Given the description of an element on the screen output the (x, y) to click on. 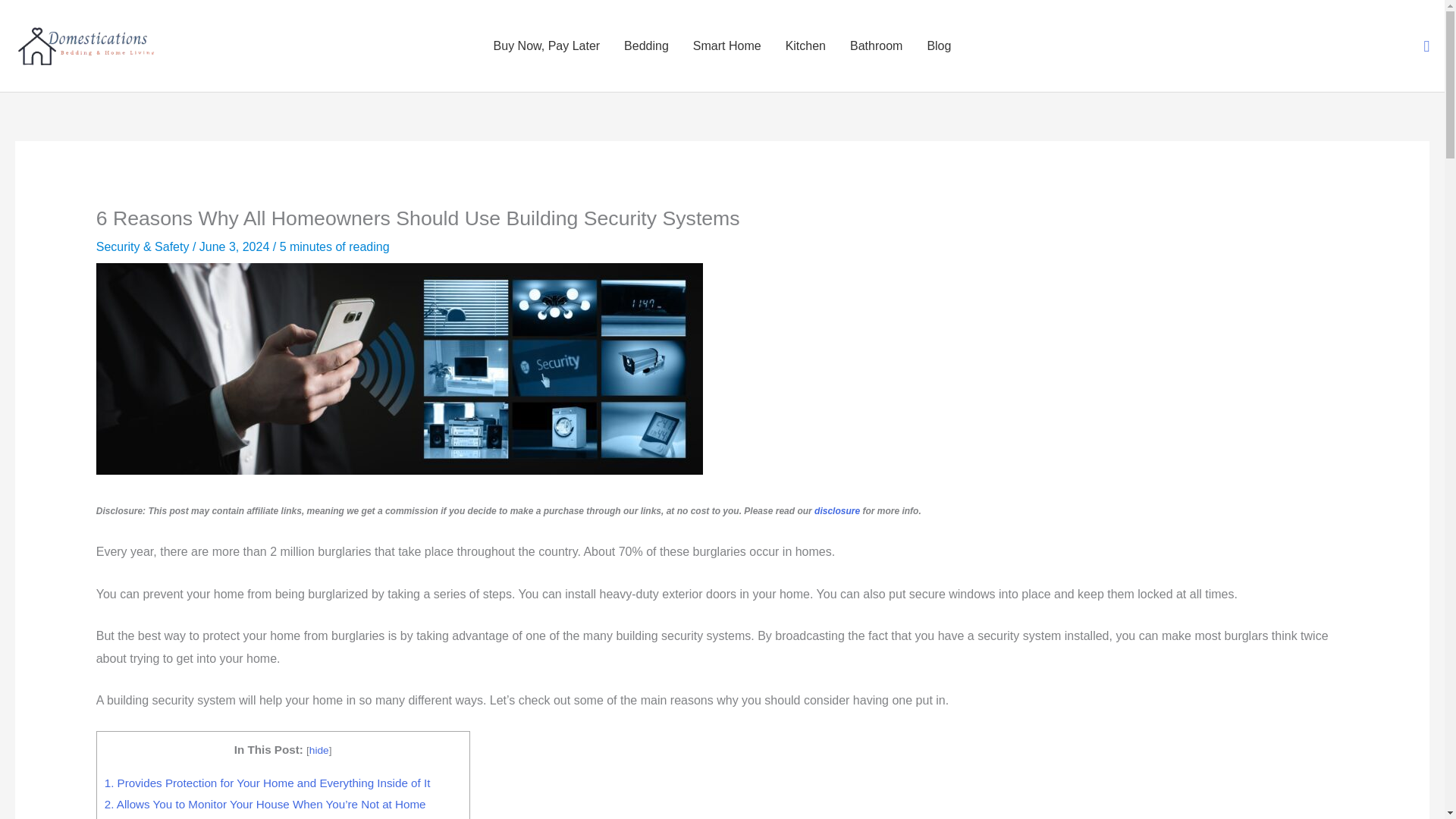
Bedding (646, 45)
Buy Now, Pay Later (546, 45)
Bathroom (876, 45)
Smart Home (727, 45)
hide (318, 749)
Kitchen (805, 45)
Blog (938, 45)
disclosure (836, 511)
